Given the description of an element on the screen output the (x, y) to click on. 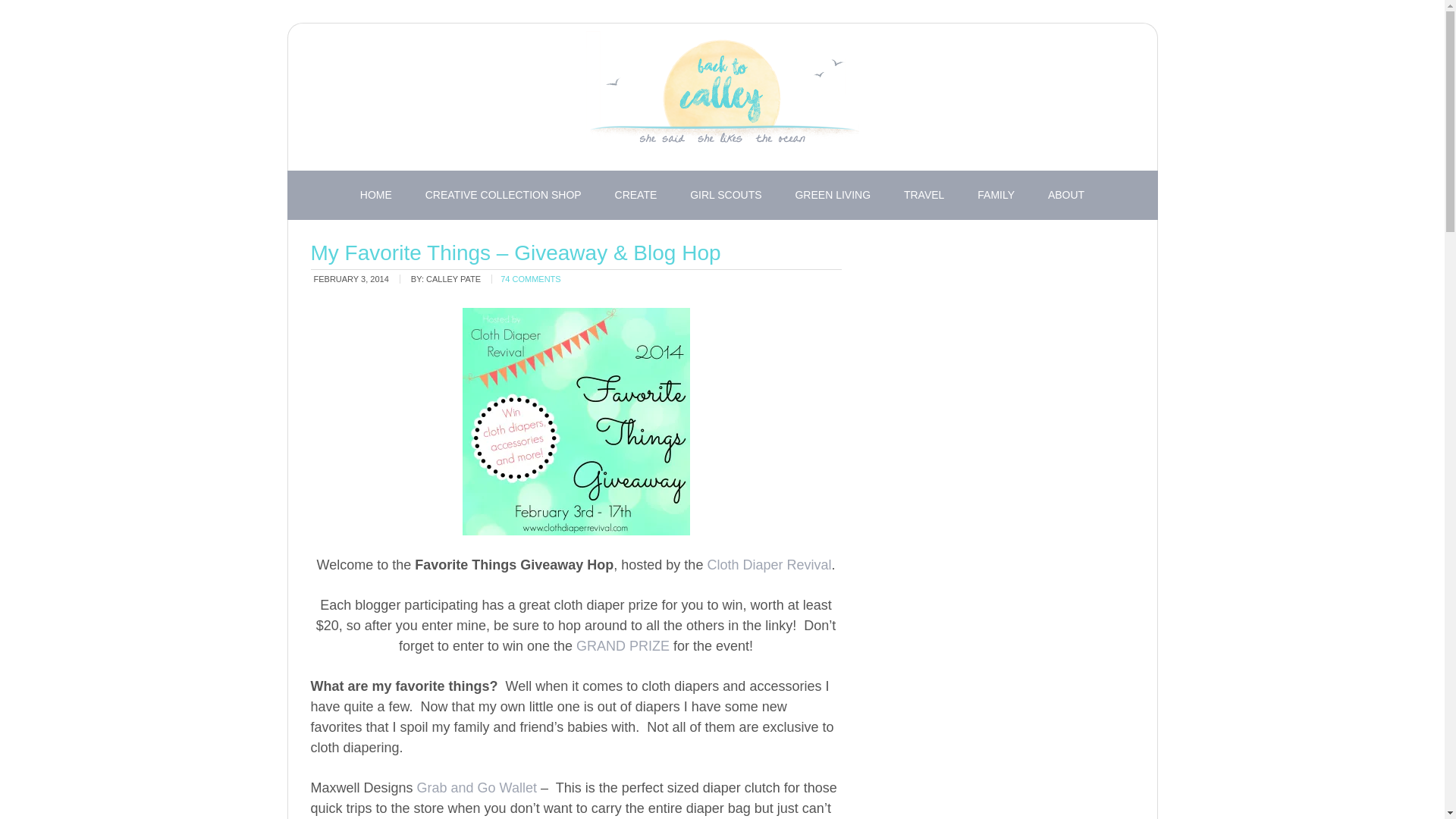
HOME (376, 195)
GIRL SCOUTS (725, 195)
CREATIVE COLLECTION SHOP (503, 195)
FAMILY (995, 195)
TRAVEL (923, 195)
GREEN LIVING (831, 195)
CREATE (635, 195)
